Given the description of an element on the screen output the (x, y) to click on. 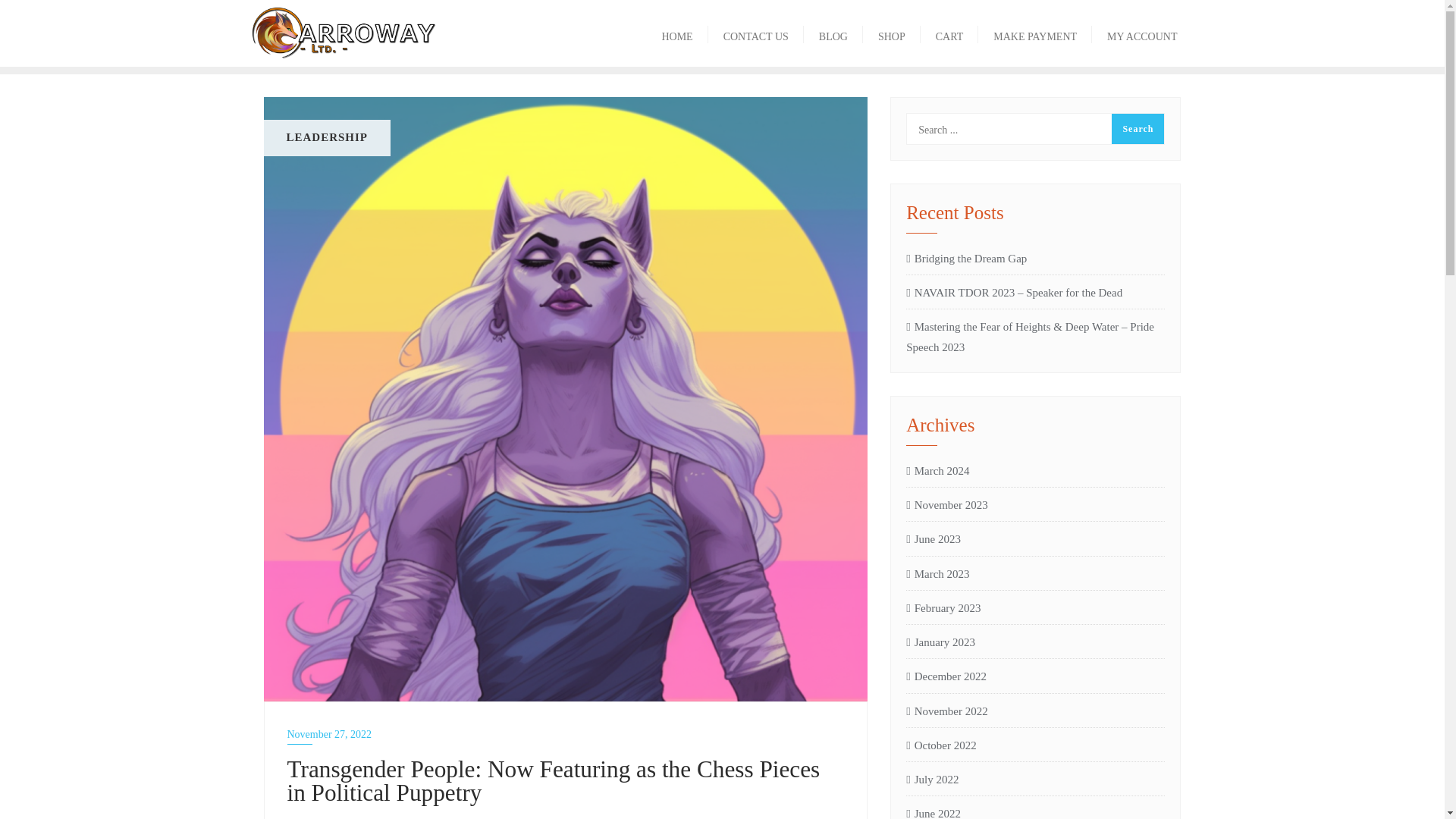
HOME (676, 32)
February 2023 (942, 608)
January 2023 (940, 641)
Search (1137, 128)
BLOG (833, 32)
Search (1137, 128)
November 27, 2022 (565, 733)
Bridging the Dream Gap (1034, 258)
CART (949, 32)
Search (1137, 128)
CONTACT US (755, 32)
March 2023 (937, 573)
November 2023 (946, 505)
December 2022 (946, 676)
